Given the description of an element on the screen output the (x, y) to click on. 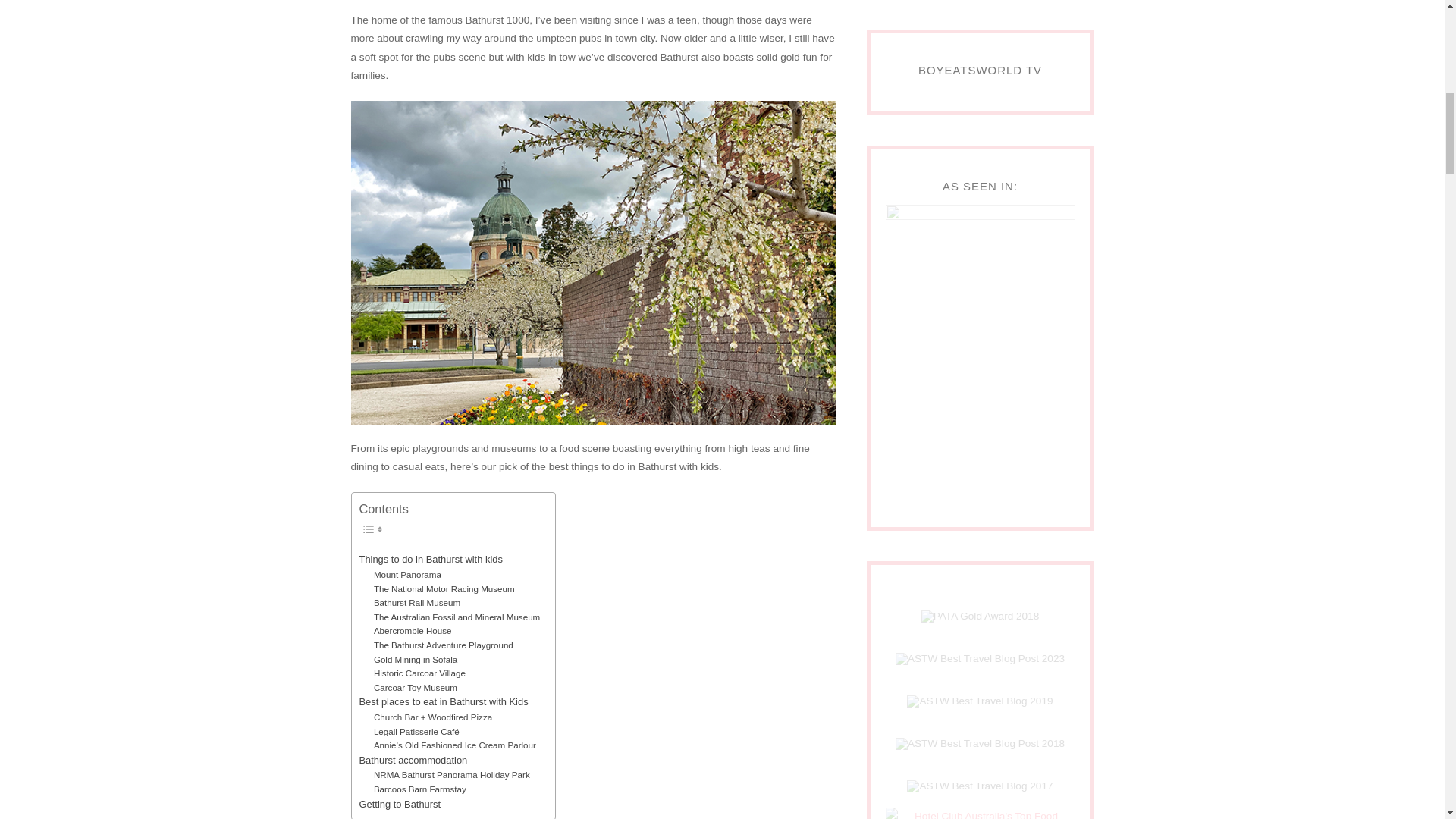
Historic Carcoar Village (419, 673)
Gold Mining in Sofala (415, 659)
Abercrombie House (412, 631)
The National Motor Racing Museum (444, 589)
Bathurst Rail Museum (417, 603)
Mount Panorama (407, 575)
Carcoar Toy Museum (415, 687)
The Bathurst Adventure Playground (443, 645)
The Australian Fossil and Mineral Museum (457, 617)
